Given the description of an element on the screen output the (x, y) to click on. 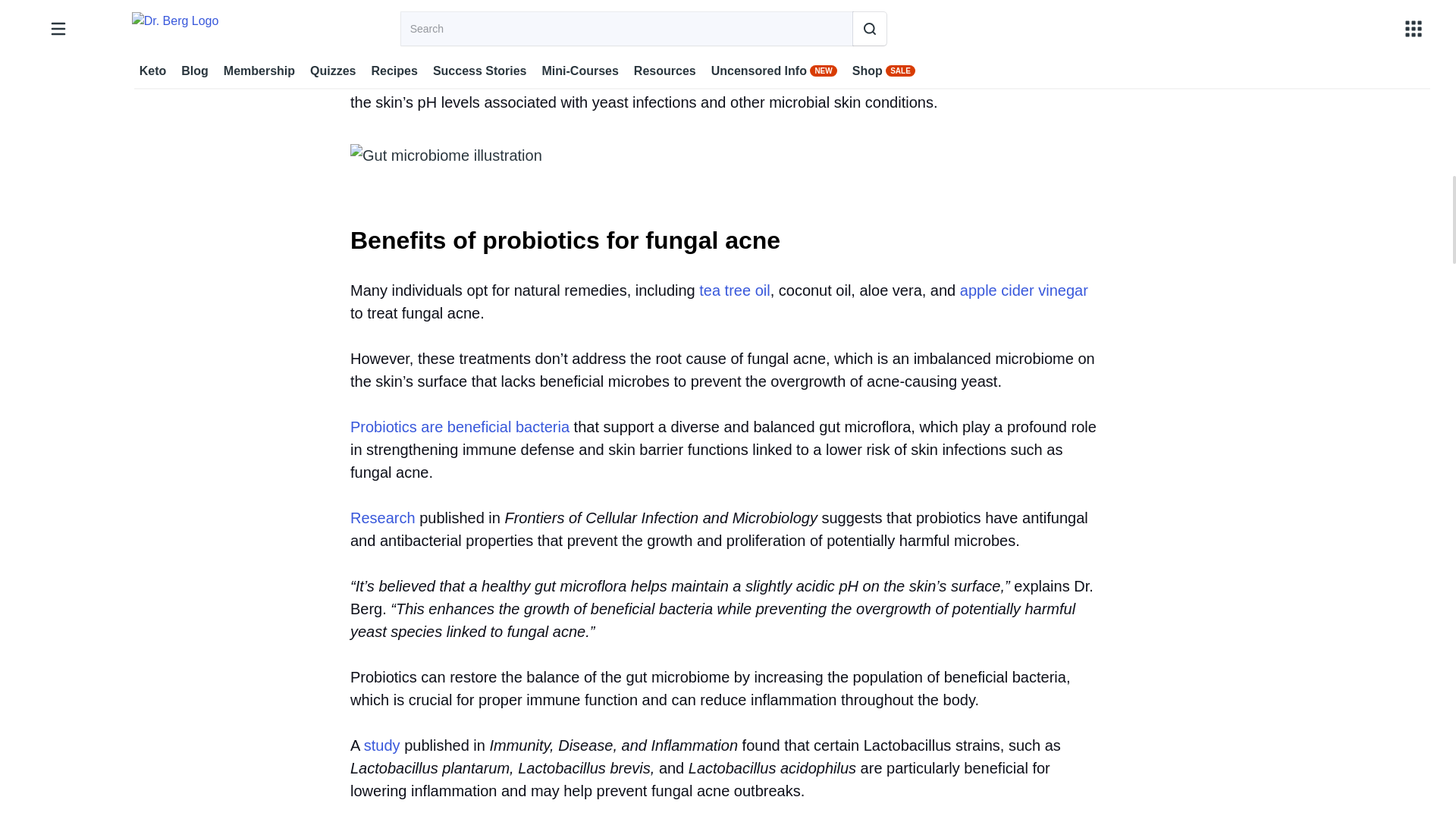
Research (382, 517)
Probiotics are beneficial bacteria (459, 426)
apple cider vinegar (1023, 289)
tea tree oil (734, 289)
study (382, 745)
processed foods (705, 79)
